Given the description of an element on the screen output the (x, y) to click on. 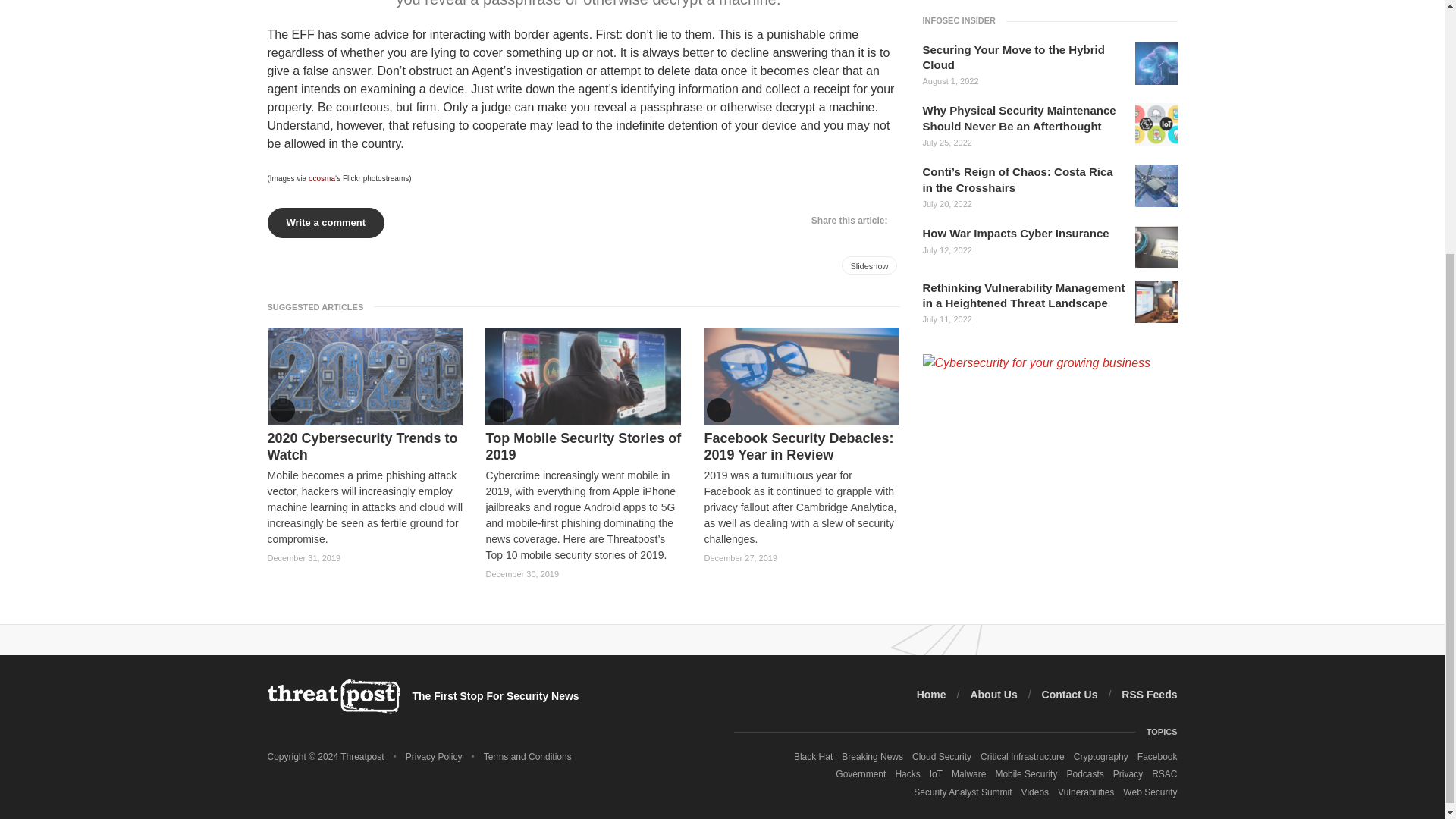
Securing Your Move to the Hybrid Cloud (1023, 57)
2020 Cybersecurity Trends to Watch (364, 446)
ocosma (321, 178)
Top Mobile Security Stories of 2019 (582, 446)
Facebook Security Debacles: 2019 Year in Review (801, 446)
Write a comment (325, 223)
Securing Your Move to the Hybrid Cloud (1155, 63)
